Given the description of an element on the screen output the (x, y) to click on. 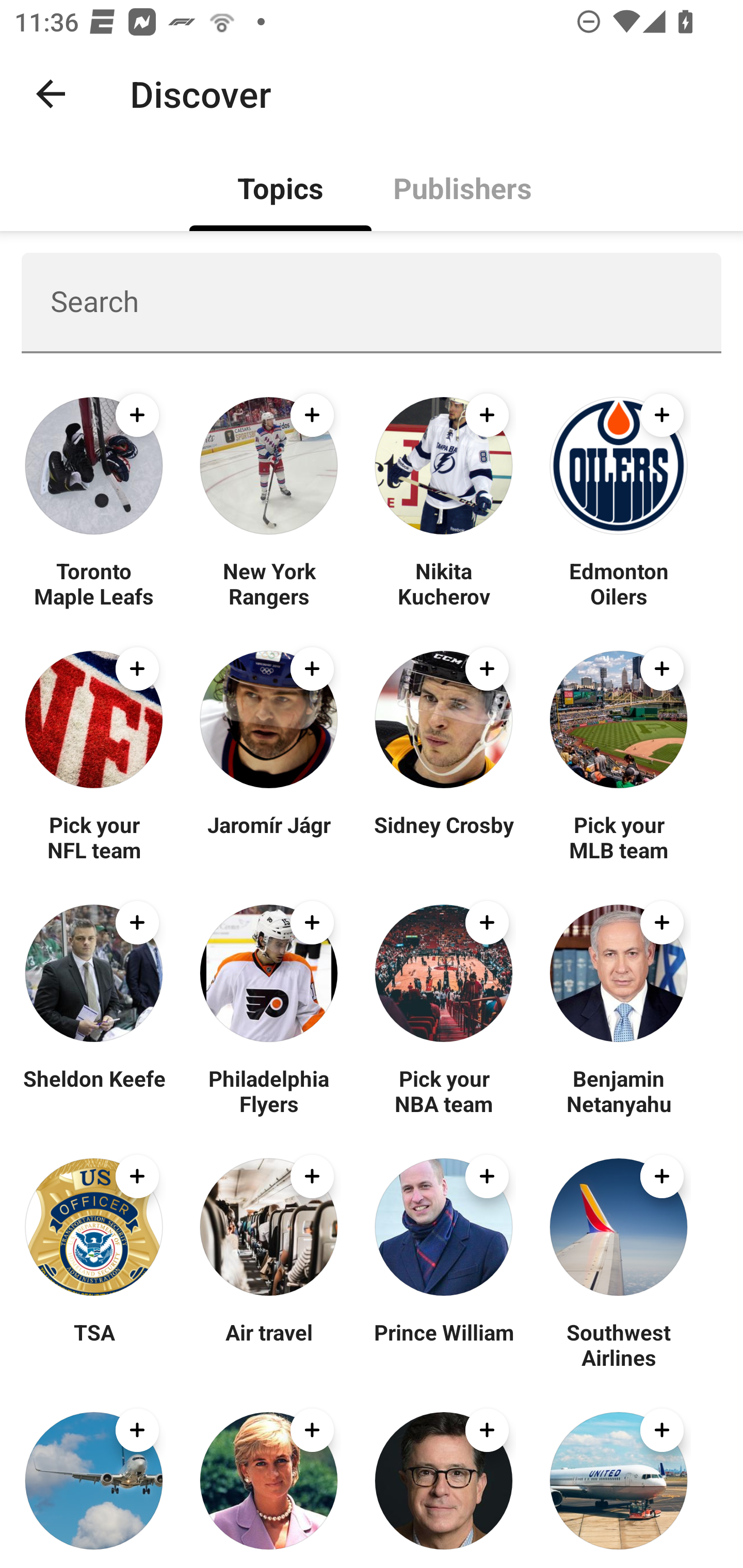
Publishers (462, 187)
Search (371, 302)
Toronto Maple Leafs (93, 582)
New York Rangers (268, 582)
Nikita Kucherov (443, 582)
Edmonton Oilers (618, 582)
Pick your NFL team (93, 836)
Jaromír Jágr (268, 836)
Sidney Crosby (443, 836)
Pick your MLB team (618, 836)
Sheldon Keefe (93, 1090)
Philadelphia Flyers (268, 1090)
Pick your NBA team (443, 1090)
Benjamin Netanyahu (618, 1090)
TSA (93, 1344)
Air travel (268, 1344)
Prince William (443, 1344)
Southwest Airlines (618, 1344)
